Given the description of an element on the screen output the (x, y) to click on. 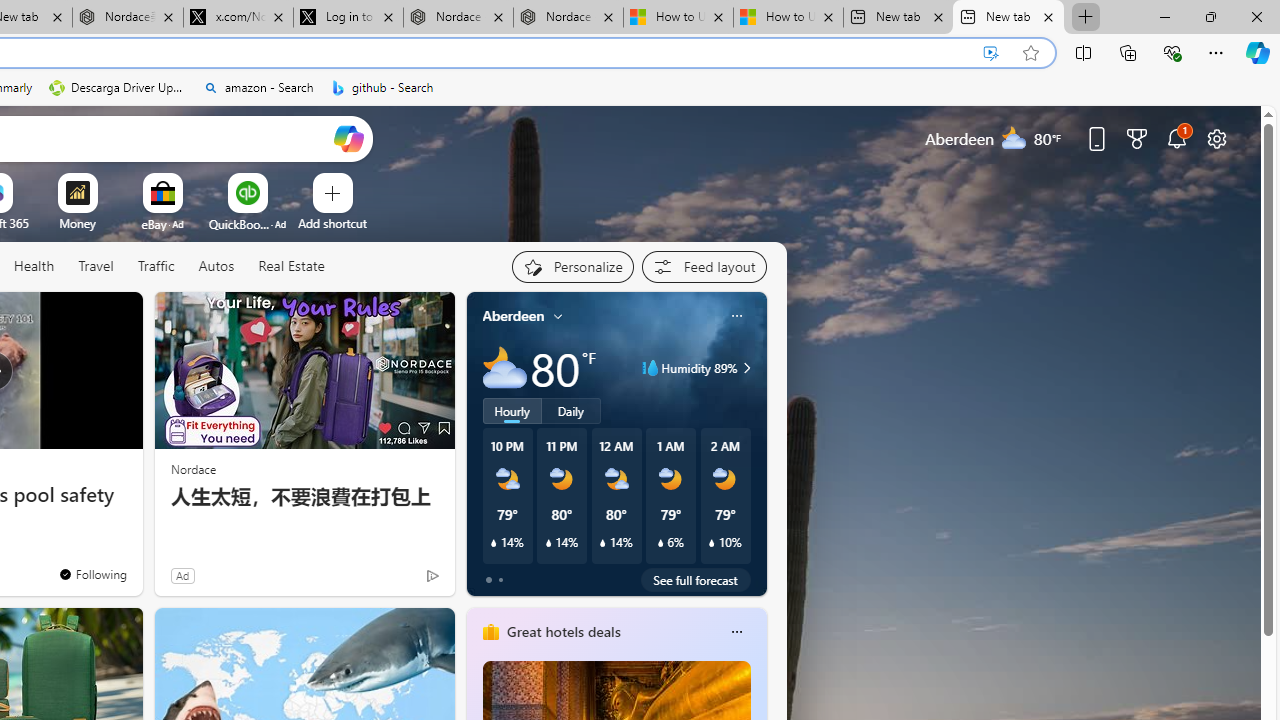
Traffic (155, 267)
Aberdeen (513, 315)
